Given the description of an element on the screen output the (x, y) to click on. 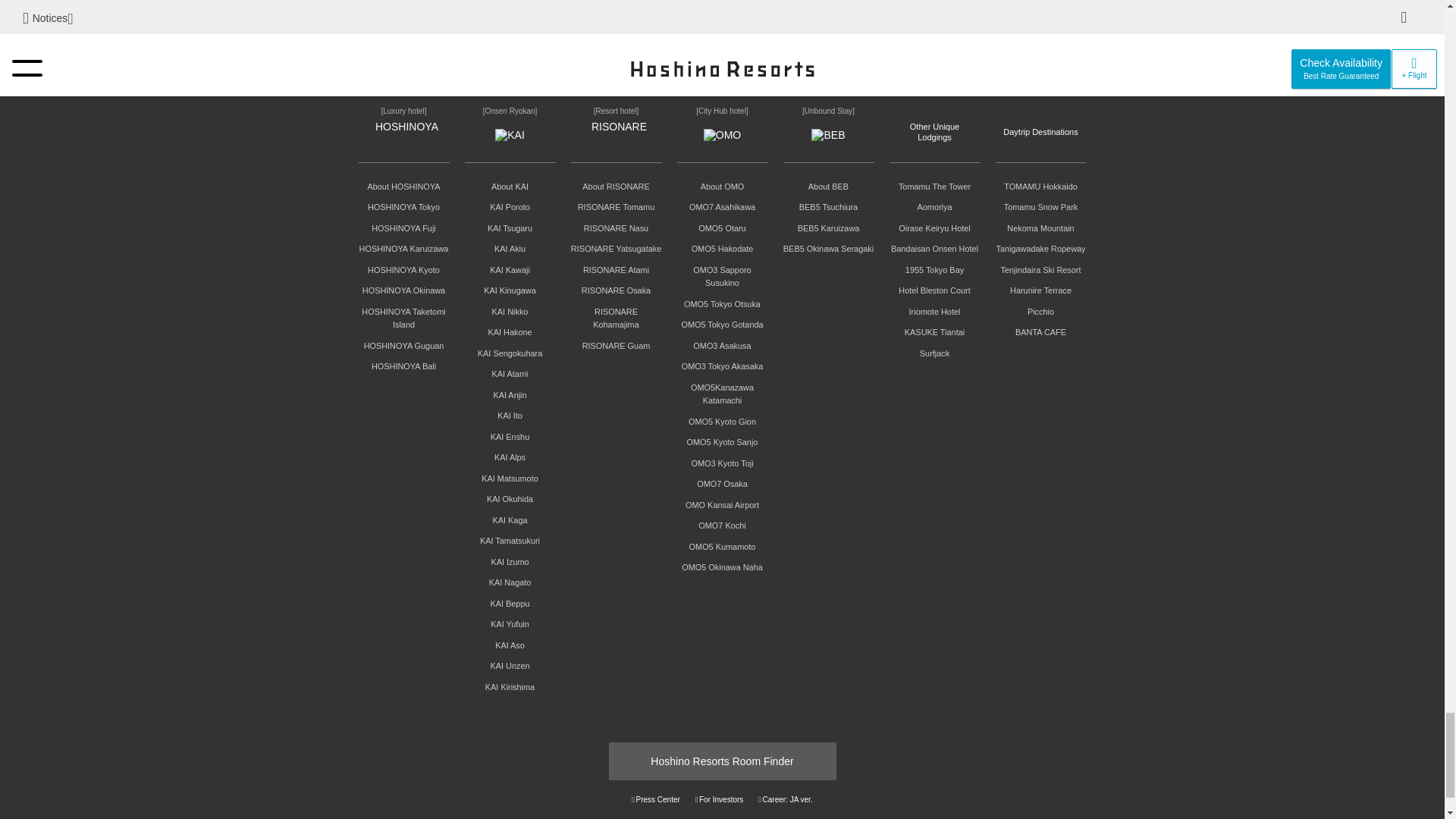
KAI Kawaji (509, 269)
HOSHINOYA Kyoto (403, 269)
HOSHINOYA Tokyo (403, 206)
KAI Nikko (510, 311)
About KAI (510, 185)
KAI Kinugawa (509, 289)
HOSHINOYA Fuji (403, 227)
KAI Hakone (509, 331)
HOSHINOYA Taketomi Island (403, 318)
KAI Sengokuhara (509, 352)
